Given the description of an element on the screen output the (x, y) to click on. 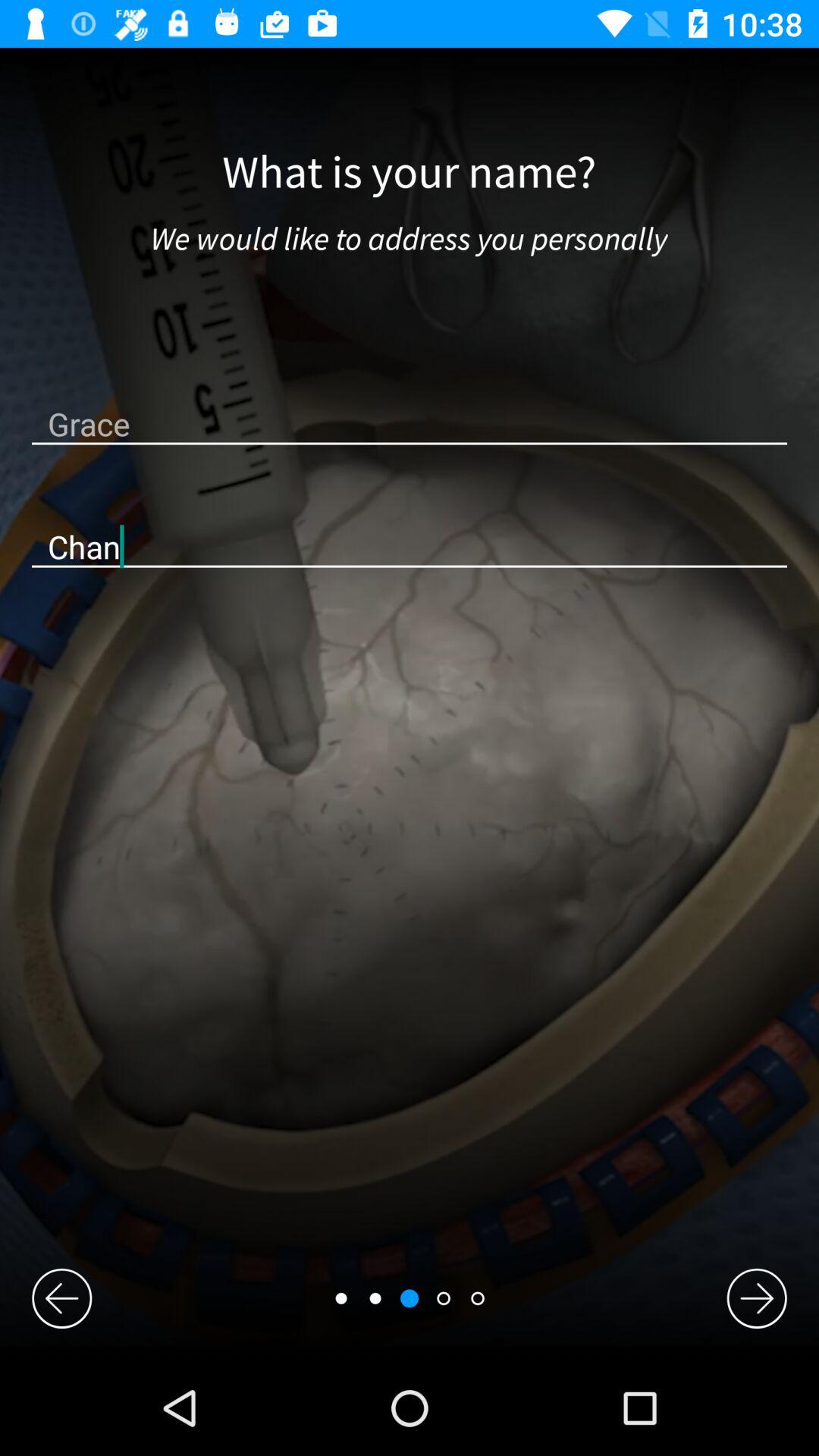
open the grace (409, 423)
